Given the description of an element on the screen output the (x, y) to click on. 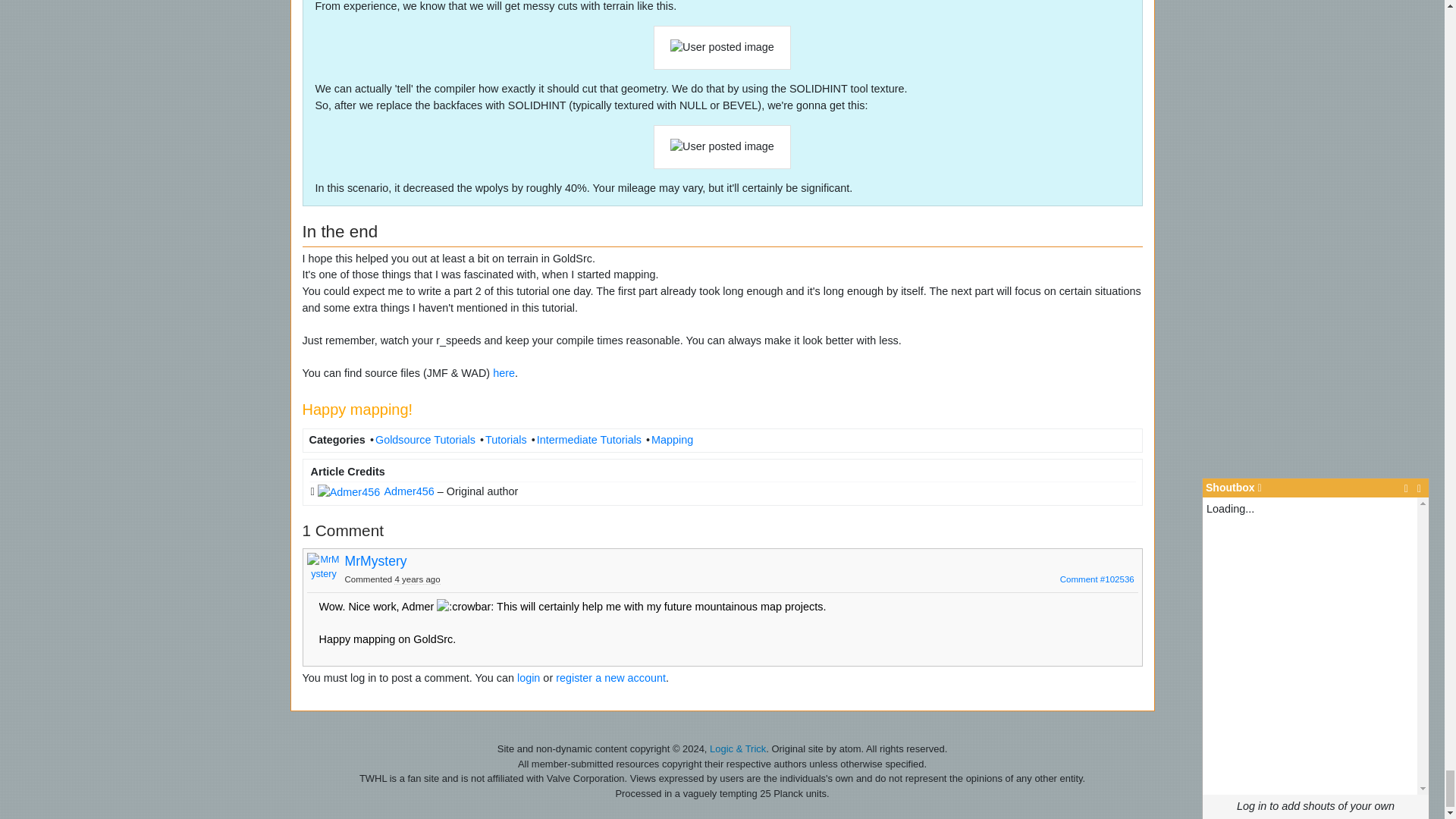
Admer456 (375, 491)
MrMystery (322, 569)
MrMystery (374, 560)
2020-02-10 16:03:29 UTC (416, 579)
